Given the description of an element on the screen output the (x, y) to click on. 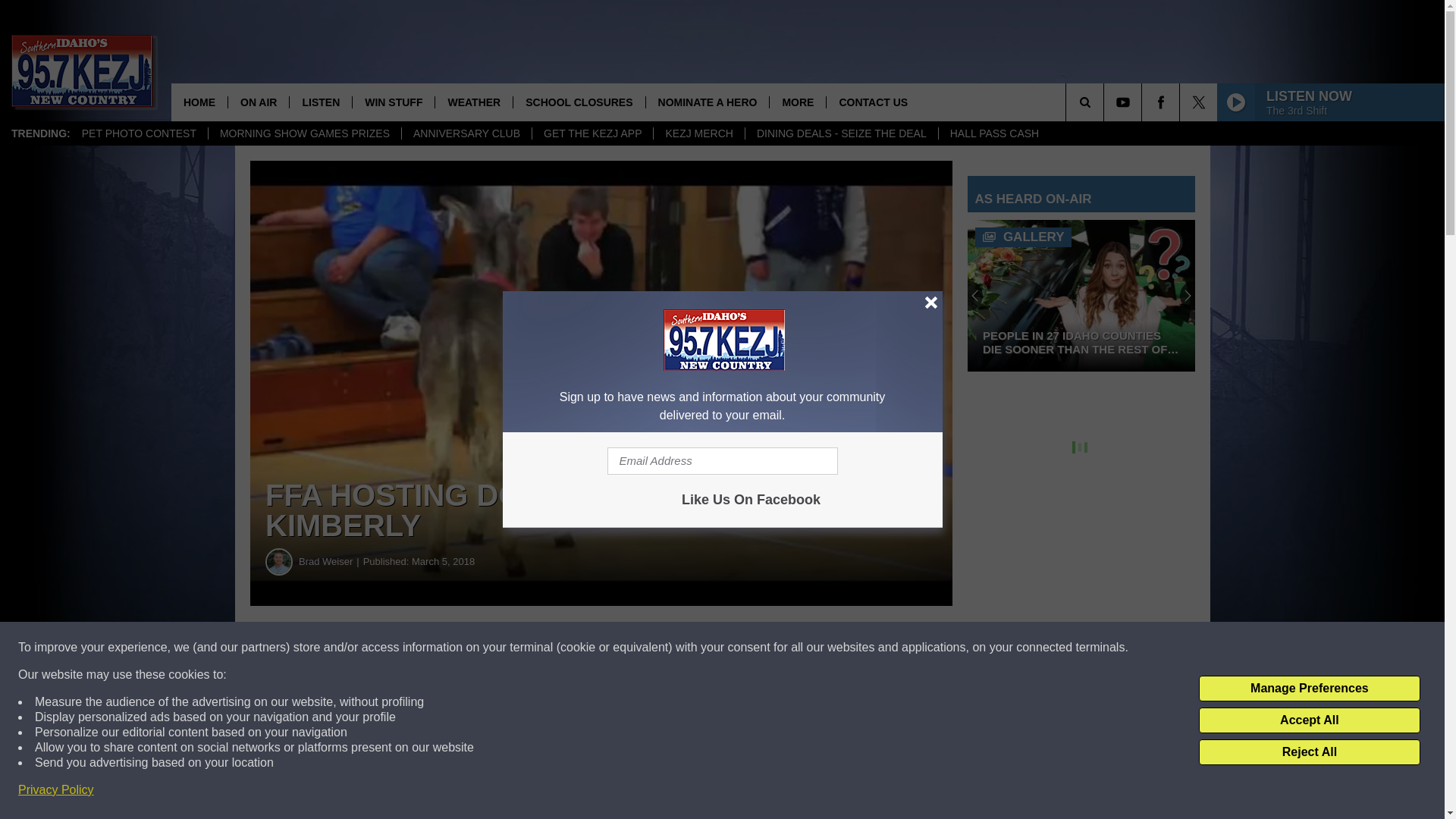
Accept All (1309, 720)
SEARCH (1106, 102)
GET THE KEZJ APP (591, 133)
Email Address (722, 461)
HOME (199, 102)
MORNING SHOW GAMES PRIZES (304, 133)
SEARCH (1106, 102)
WEATHER (472, 102)
Reject All (1309, 751)
ANNIVERSARY CLUB (466, 133)
DINING DEALS - SEIZE THE DEAL (840, 133)
Share on Facebook (460, 647)
Manage Preferences (1309, 688)
Privacy Policy (55, 789)
PET PHOTO CONTEST (138, 133)
